Given the description of an element on the screen output the (x, y) to click on. 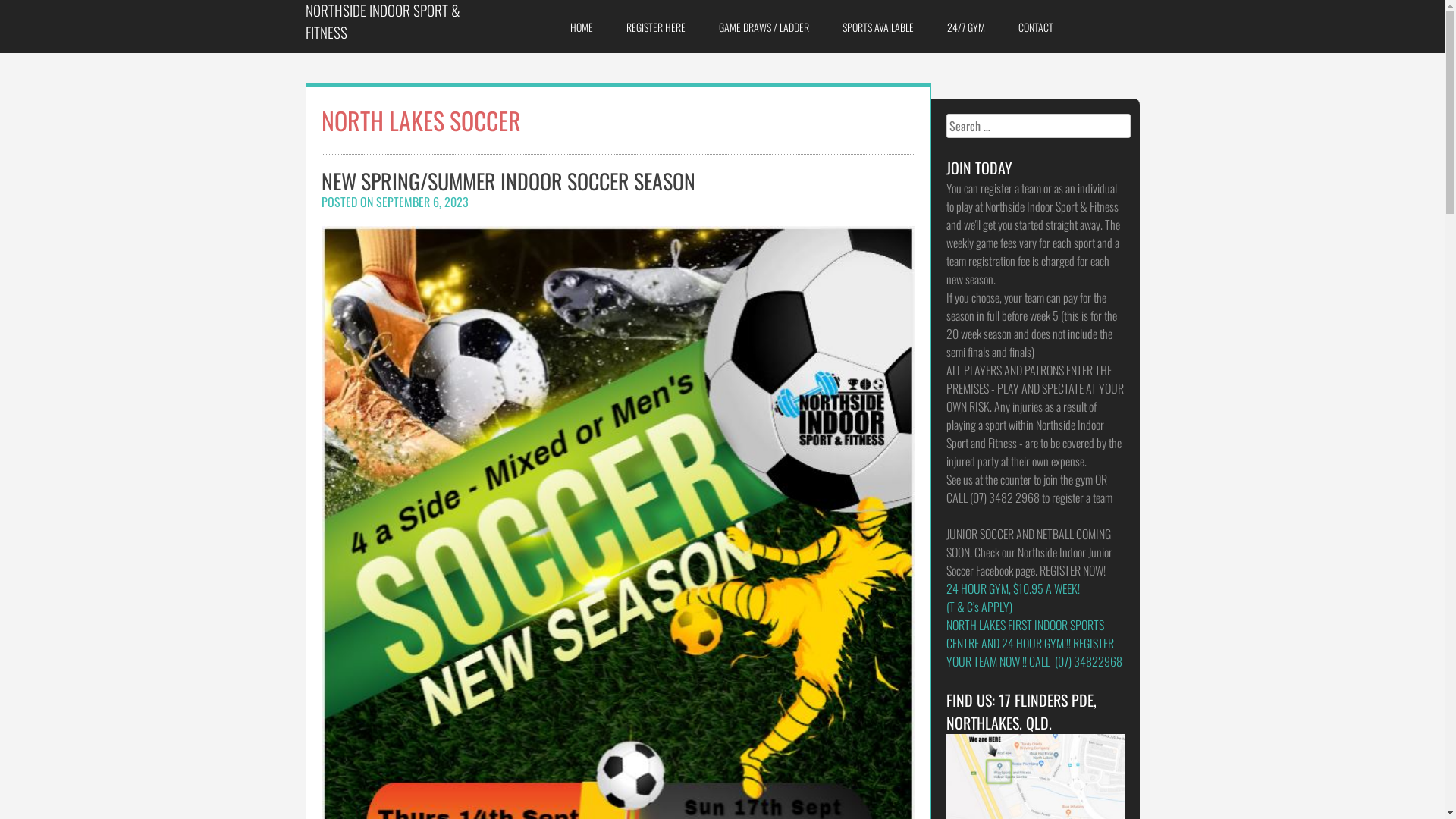
CONTACT Element type: text (1035, 26)
Search Element type: text (37, 18)
NEW SPRING/SUMMER INDOOR SOCCER SEASON Element type: text (508, 180)
HOME Element type: text (581, 26)
SEPTEMBER 6, 2023 Element type: text (422, 201)
GAME DRAWS / LADDER Element type: text (763, 26)
24/7 GYM Element type: text (965, 26)
SPORTS AVAILABLE Element type: text (877, 26)
REGISTER HERE Element type: text (655, 26)
Skip to content Element type: text (0, 0)
